Given the description of an element on the screen output the (x, y) to click on. 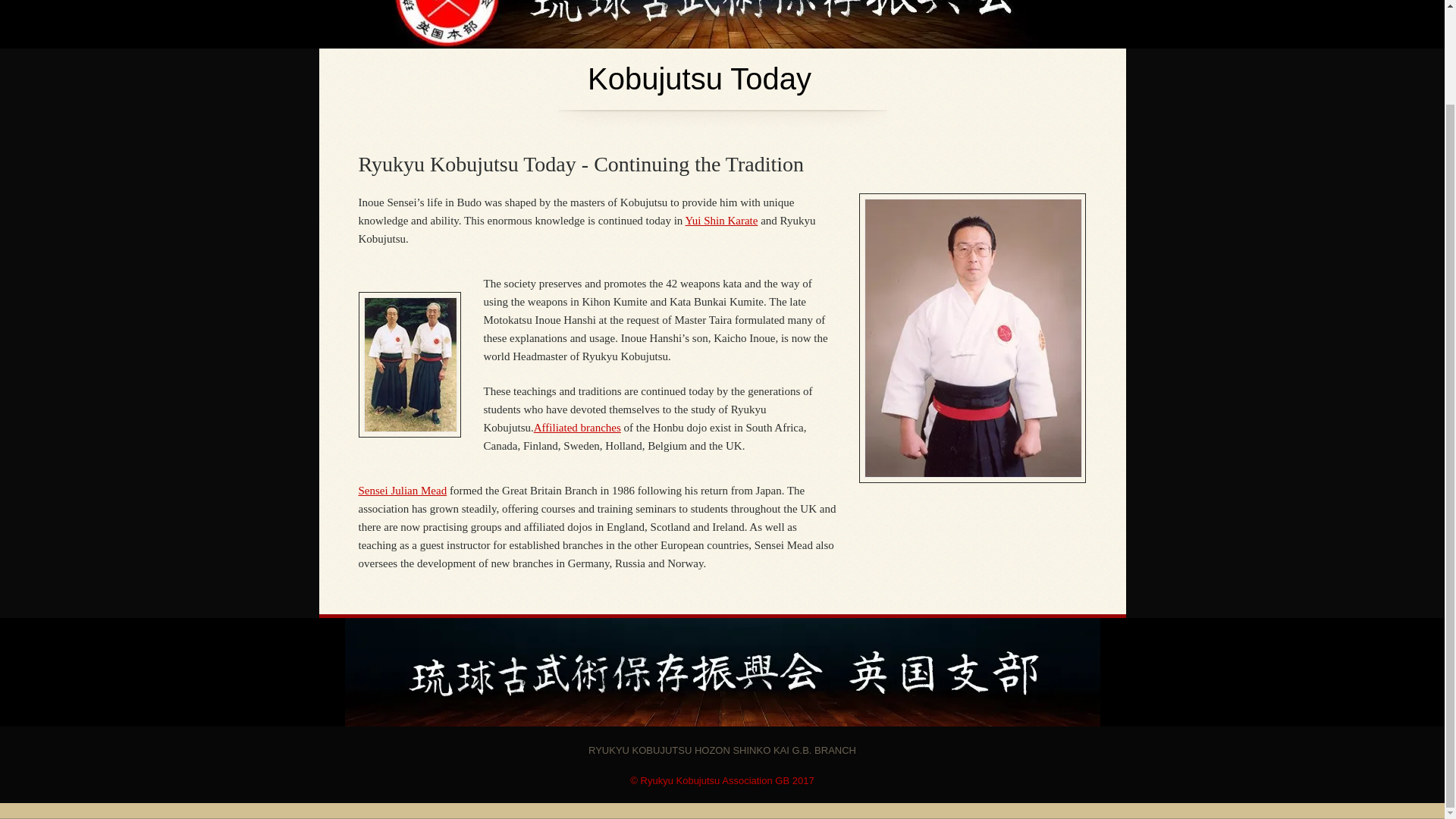
Yui Shin Karate (721, 220)
